Given the description of an element on the screen output the (x, y) to click on. 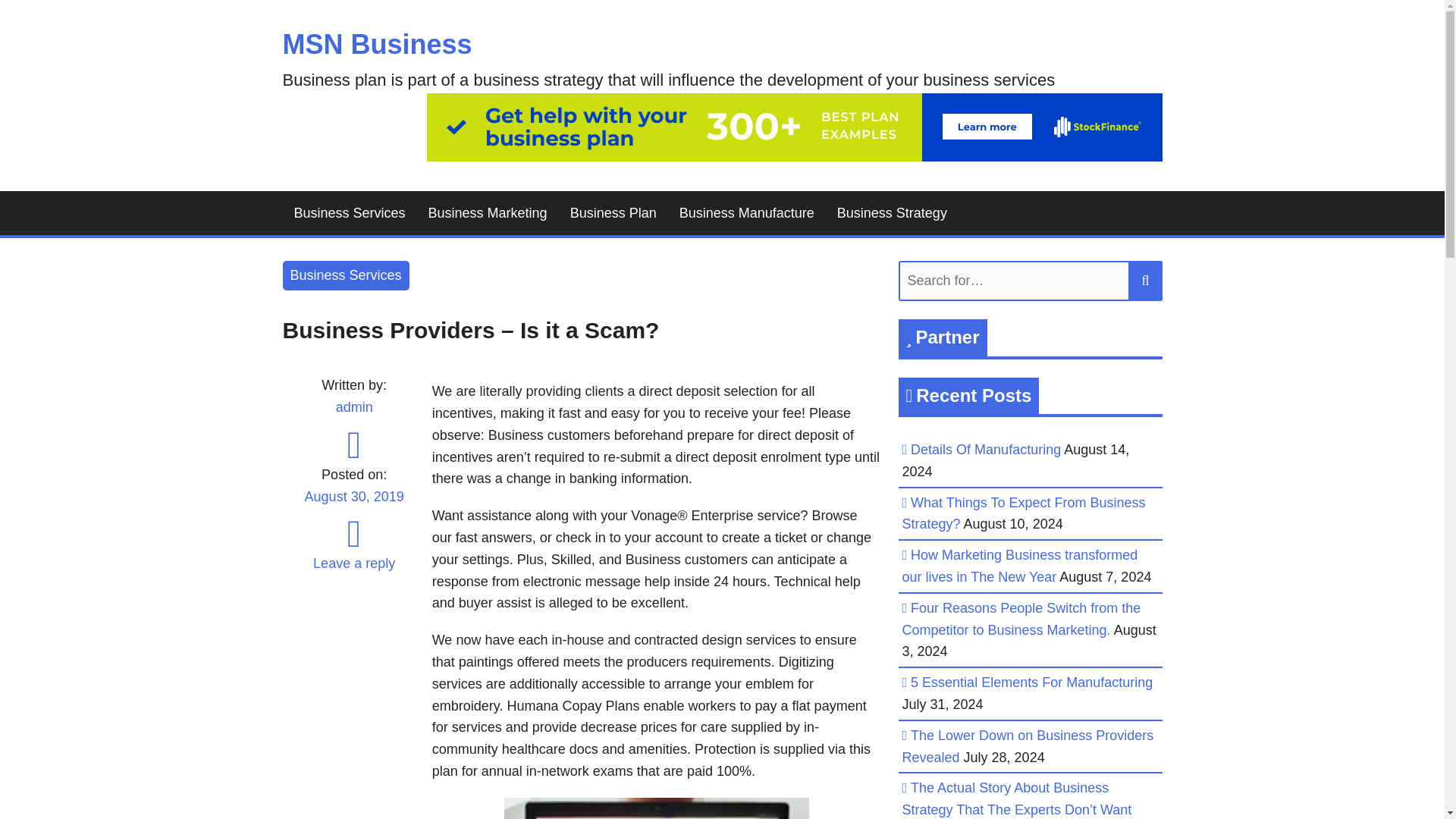
The Lower Down on Business Providers Revealed (1028, 746)
What Things To Expect From Business Strategy? (1023, 513)
Business Services (345, 275)
admin (354, 406)
Search for: (1029, 281)
5 Essential Elements For Manufacturing (1032, 682)
MSN Business (376, 43)
Business Manufacture (746, 212)
Business Plan (613, 212)
